Given the description of an element on the screen output the (x, y) to click on. 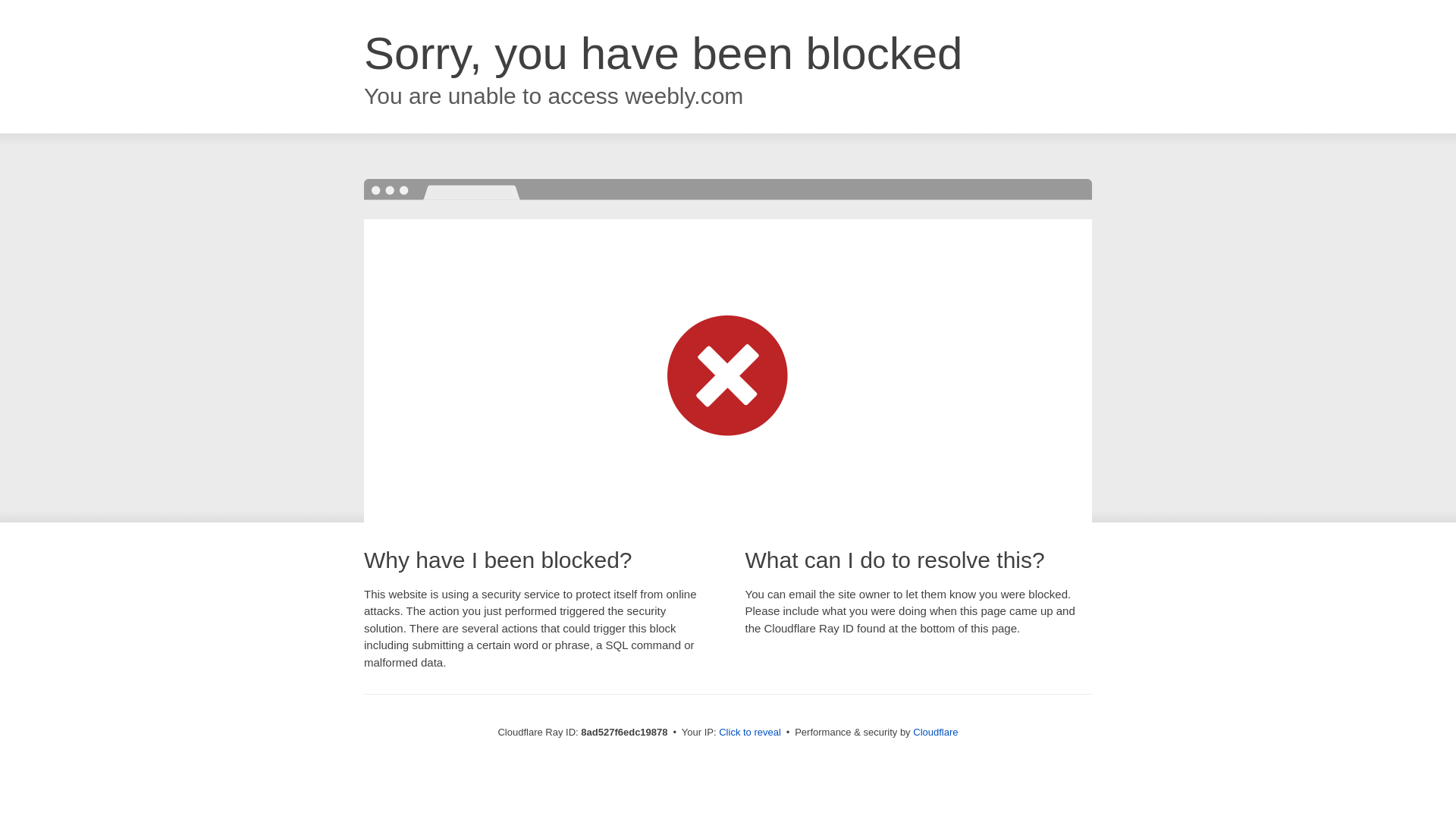
Cloudflare (935, 731)
Click to reveal (749, 732)
